Given the description of an element on the screen output the (x, y) to click on. 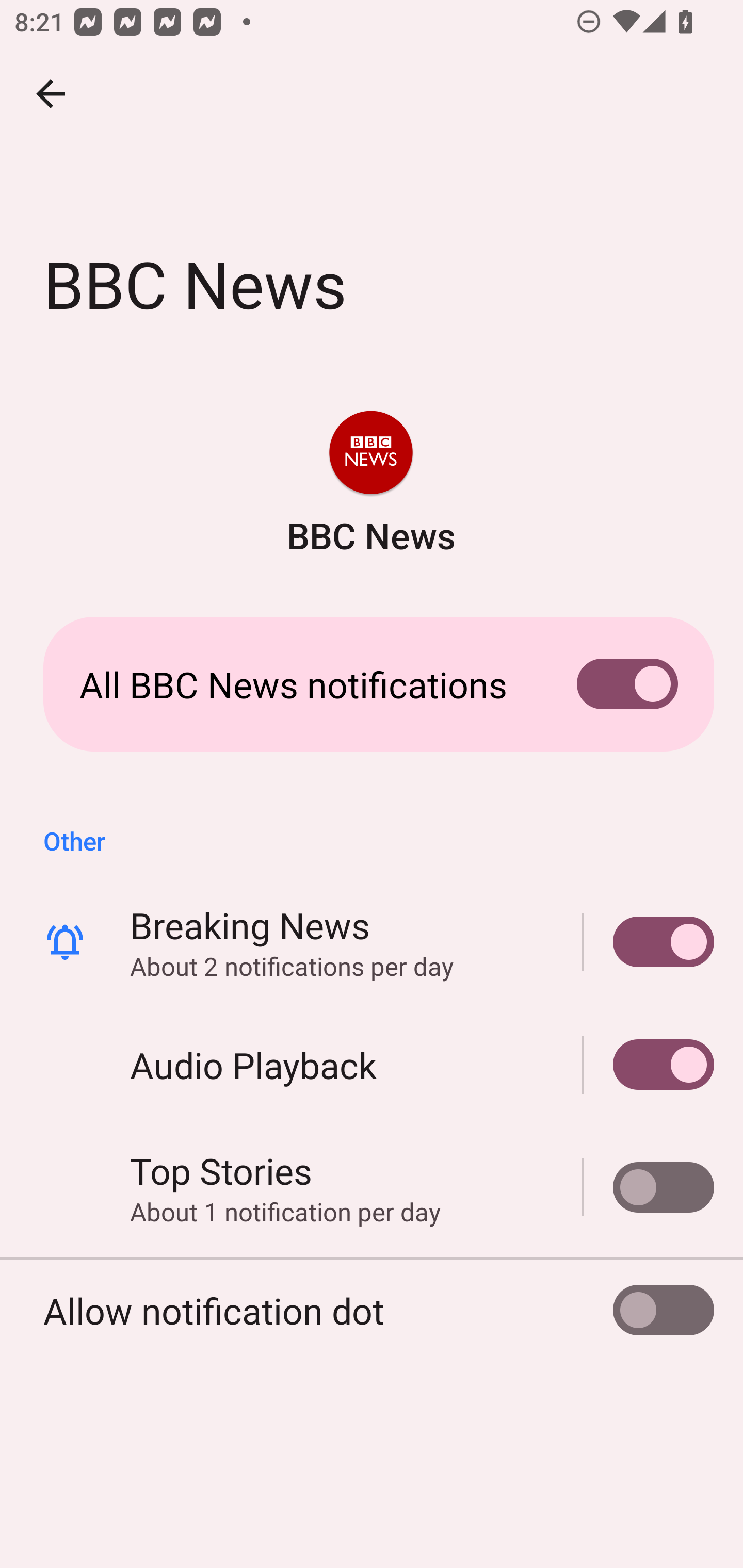
Navigate up (50, 93)
BBC News (370, 484)
All BBC News notifications (371, 684)
Breaking News (648, 941)
Audio Playback (371, 1064)
Audio Playback (648, 1064)
Top Stories (648, 1187)
Allow notification dot (371, 1309)
